Given the description of an element on the screen output the (x, y) to click on. 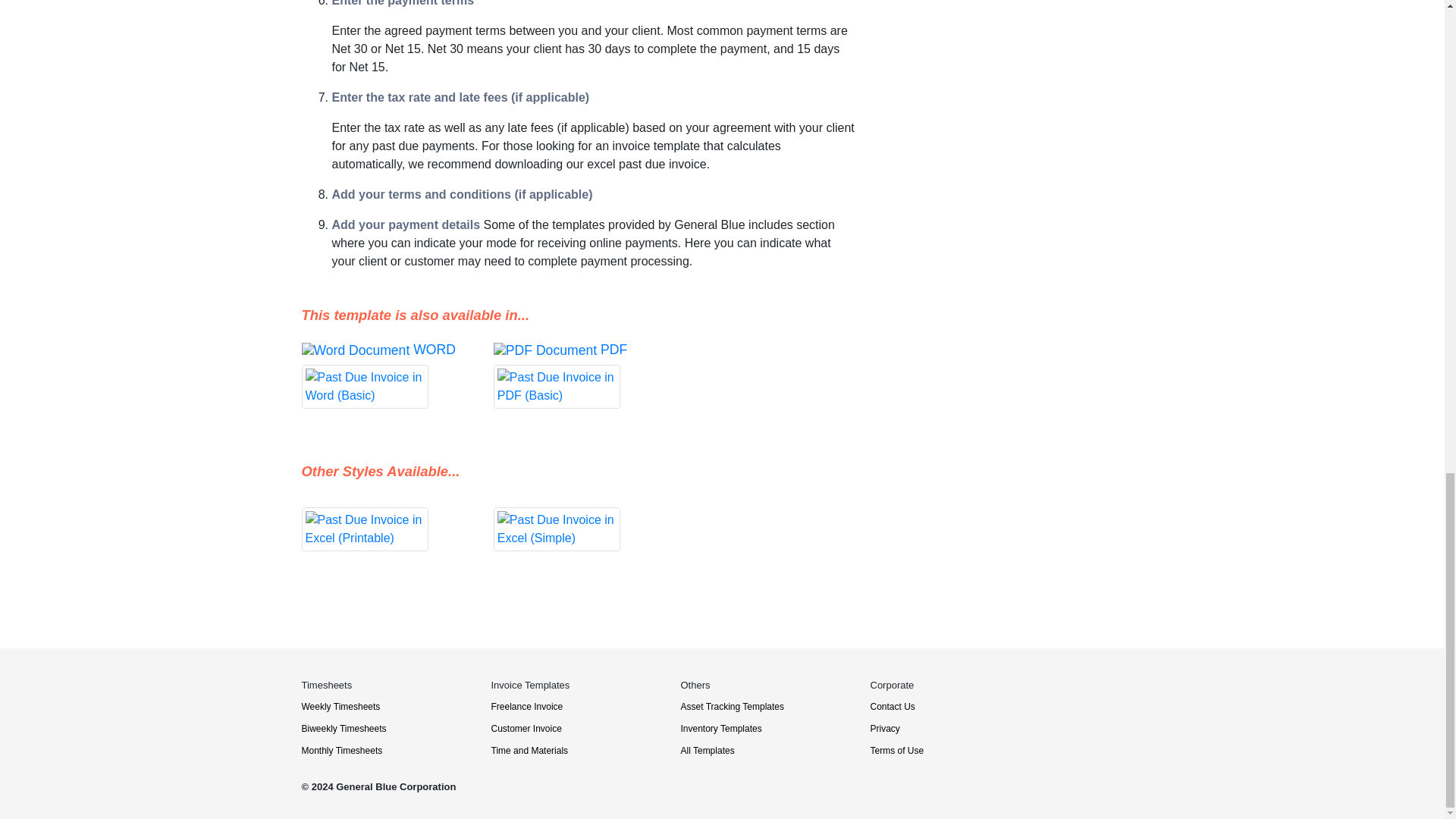
Customer Invoice (527, 728)
All Templates (708, 750)
Monthly Timesheets (341, 750)
Privacy (884, 728)
Asset Tracking Templates (732, 706)
Biweekly Timesheets (344, 728)
Weekly Timesheets (340, 706)
Time and Materials (530, 750)
Terms of Use (897, 750)
past due invoice template in PDF (577, 375)
Contact Us (892, 706)
past due invoice template in Word (385, 375)
WORD (385, 375)
Inventory Templates (721, 728)
Freelance Invoice (527, 706)
